Given the description of an element on the screen output the (x, y) to click on. 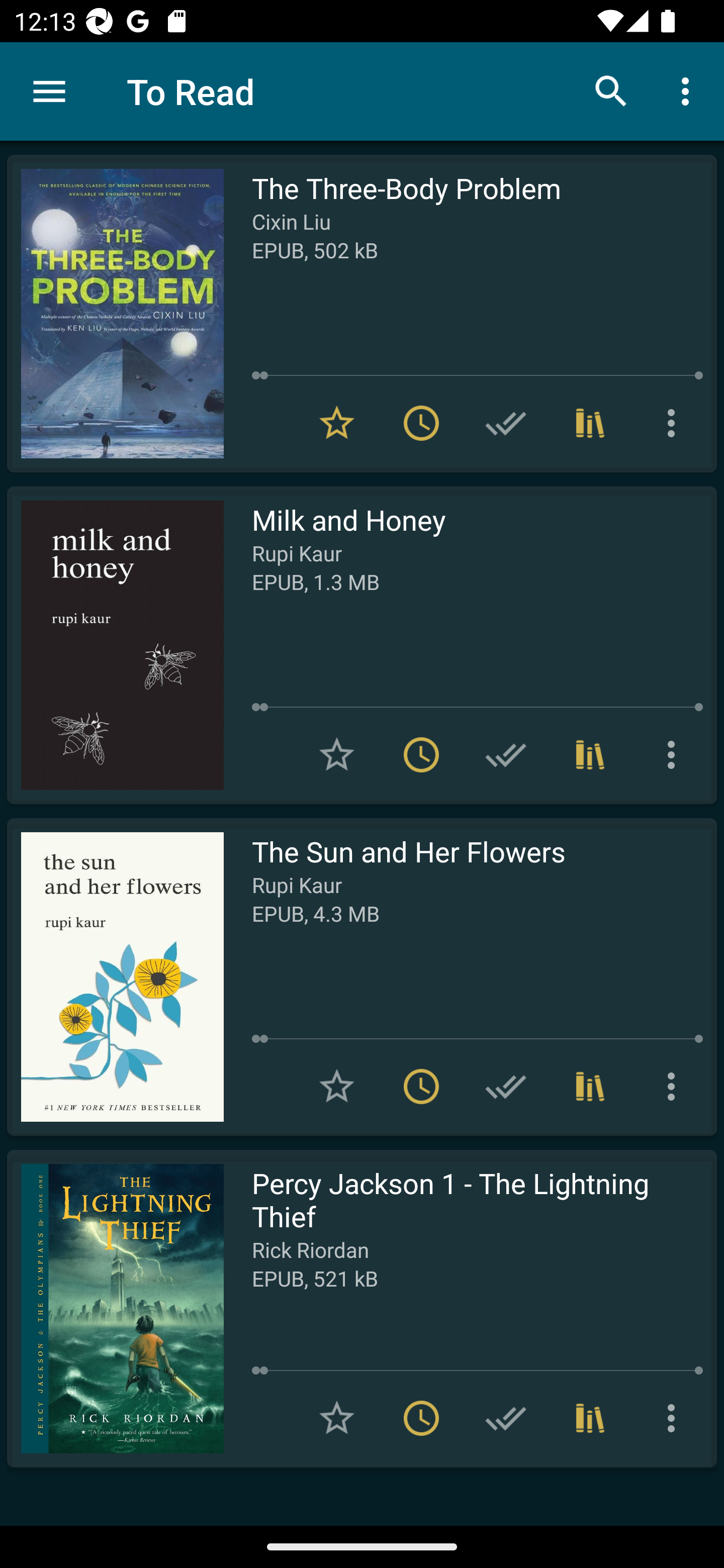
Menu (49, 91)
Search books & documents (611, 90)
More options (688, 90)
Read The Three-Body Problem (115, 313)
Remove from Favorites (336, 423)
Remove from To read (421, 423)
Add to Have read (505, 423)
Collections (1) (590, 423)
More options (674, 423)
Read Milk and Honey (115, 645)
Add to Favorites (336, 753)
Remove from To read (421, 753)
Add to Have read (505, 753)
Collections (2) (590, 753)
More options (674, 753)
Read The Sun and Her Flowers (115, 976)
Add to Favorites (336, 1086)
Remove from To read (421, 1086)
Add to Have read (505, 1086)
Collections (1) (590, 1086)
More options (674, 1086)
Read Percy Jackson 1 - The Lightning Thief (115, 1308)
Add to Favorites (336, 1417)
Remove from To read (421, 1417)
Add to Have read (505, 1417)
Collections (1) (590, 1417)
More options (674, 1417)
